Given the description of an element on the screen output the (x, y) to click on. 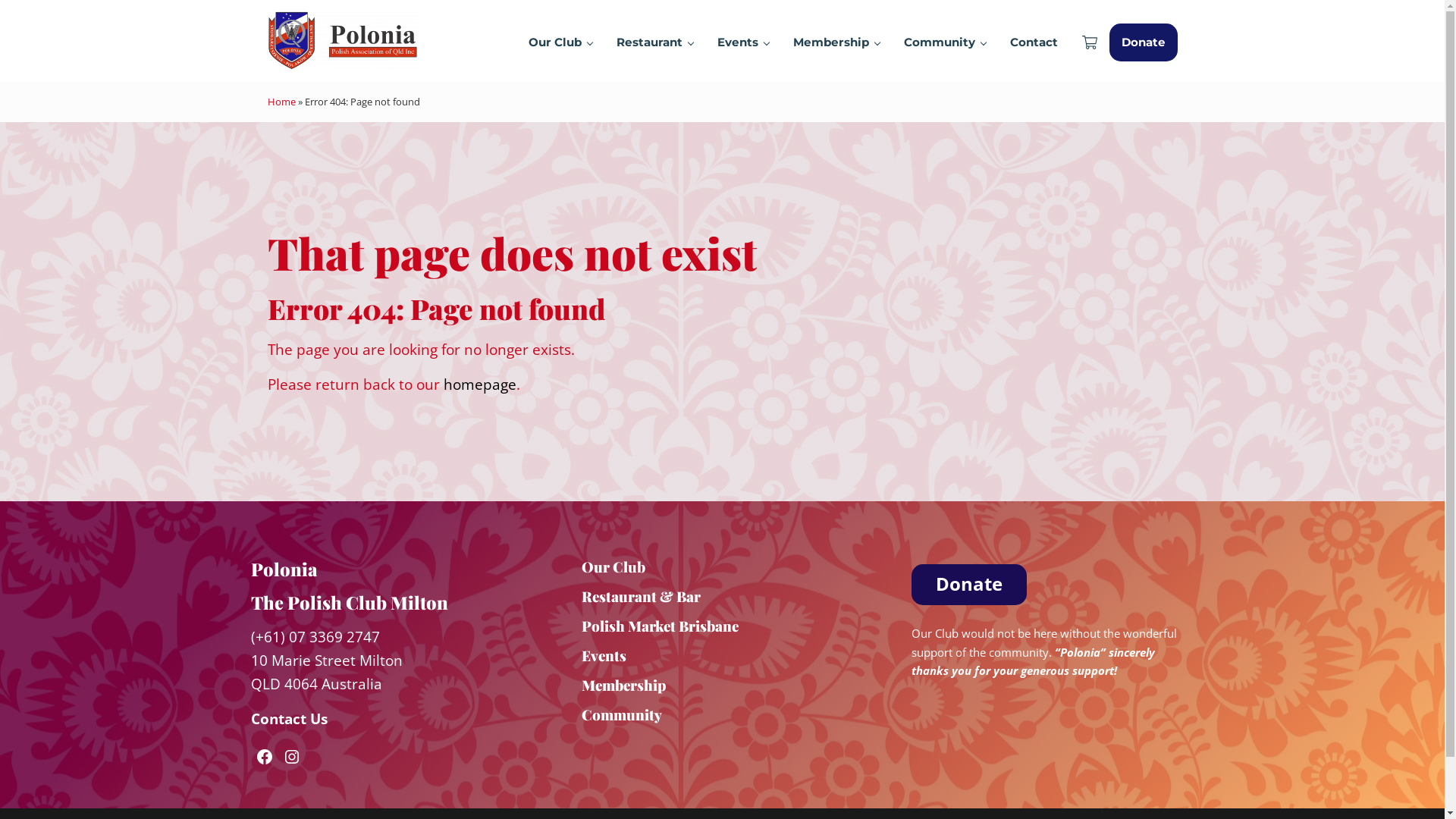
Events Element type: text (743, 42)
Our Club Element type: text (559, 42)
Our Club Element type: text (613, 566)
Membership Element type: text (836, 42)
(+61) 07 3369 2747 Element type: text (315, 636)
Donate Element type: text (968, 584)
Restaurant Element type: text (653, 42)
Events Element type: text (603, 655)
Community Element type: text (621, 714)
Polish Market Brisbane Element type: text (659, 625)
Community Element type: text (944, 42)
Contact Us Element type: text (289, 718)
Restaurant & Bar Element type: text (640, 595)
Instagram Element type: text (291, 756)
homepage Element type: text (478, 384)
Home Element type: text (280, 100)
Donate Element type: text (1142, 42)
Membership Element type: text (623, 684)
Skip to main content Element type: text (0, 0)
Contact Element type: text (1033, 42)
